Given the description of an element on the screen output the (x, y) to click on. 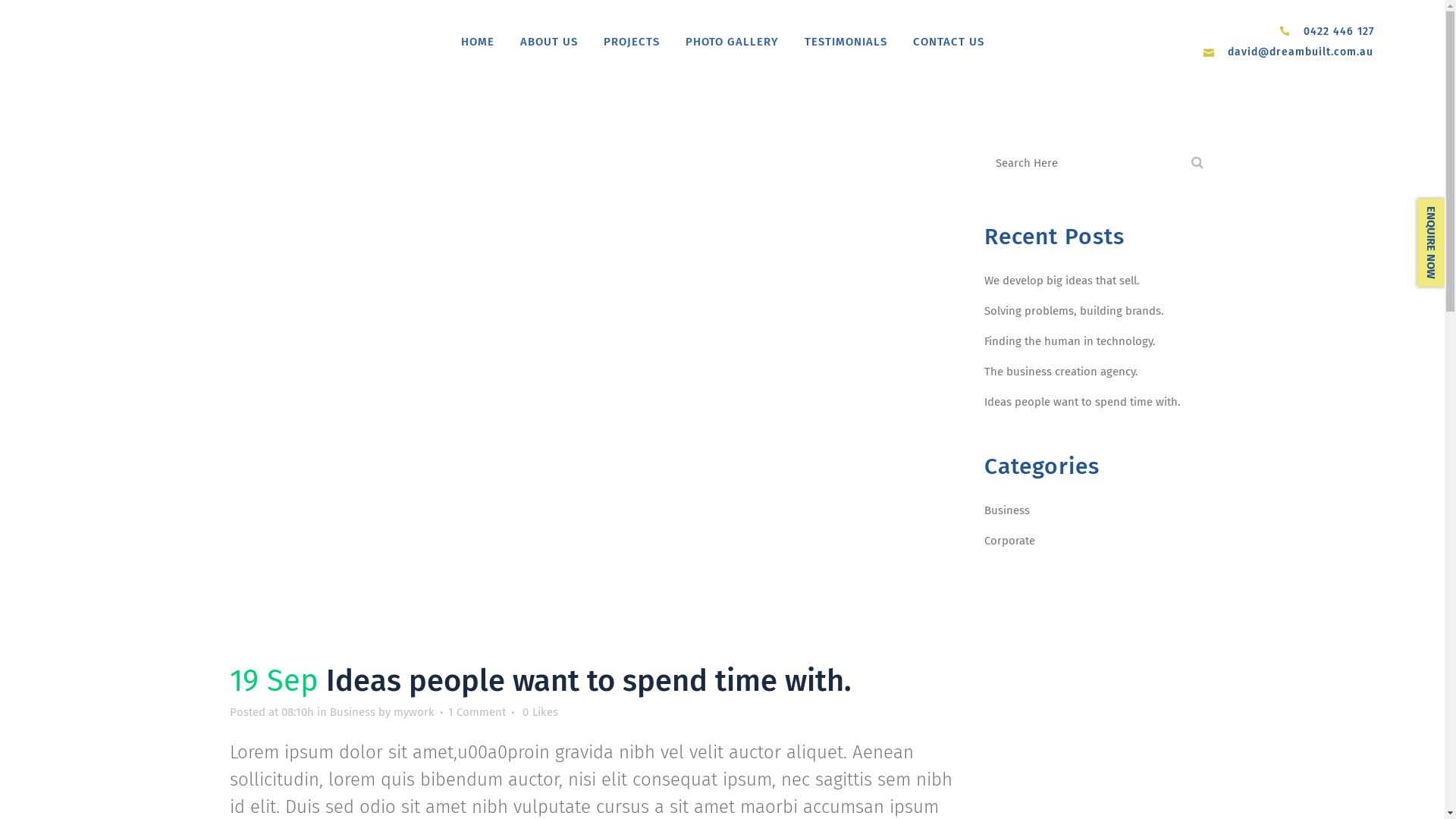
CONTACT US Element type: text (947, 41)
Business Element type: text (351, 711)
0 Likes Element type: text (539, 711)
Corporate Element type: text (1009, 540)
Solving problems, building brands. Element type: text (1074, 310)
TESTIMONIALS Element type: text (845, 41)
We develop big ideas that sell. Element type: text (1061, 280)
PHOTO GALLERY Element type: text (730, 41)
1 Comment Element type: text (476, 711)
mywork Element type: text (412, 711)
PROJECTS Element type: text (630, 41)
Finding the human in technology. Element type: text (1069, 341)
Ideas people want to spend time with. Element type: text (1082, 401)
ABOUT US Element type: text (547, 41)
HOME Element type: text (476, 41)
The business creation agency. Element type: text (1061, 371)
Business Element type: text (1006, 510)
